Given the description of an element on the screen output the (x, y) to click on. 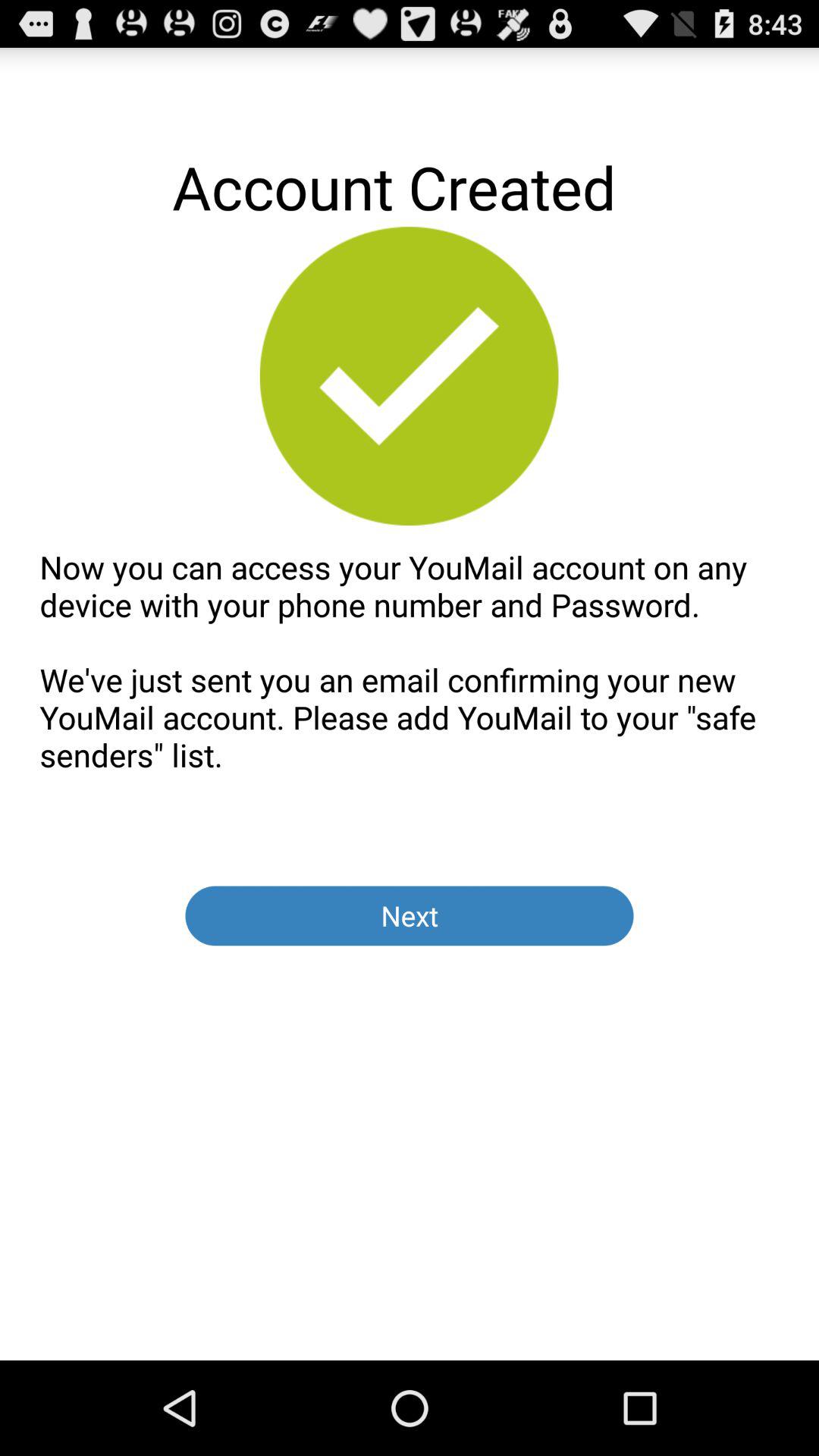
choose next button (409, 915)
